Given the description of an element on the screen output the (x, y) to click on. 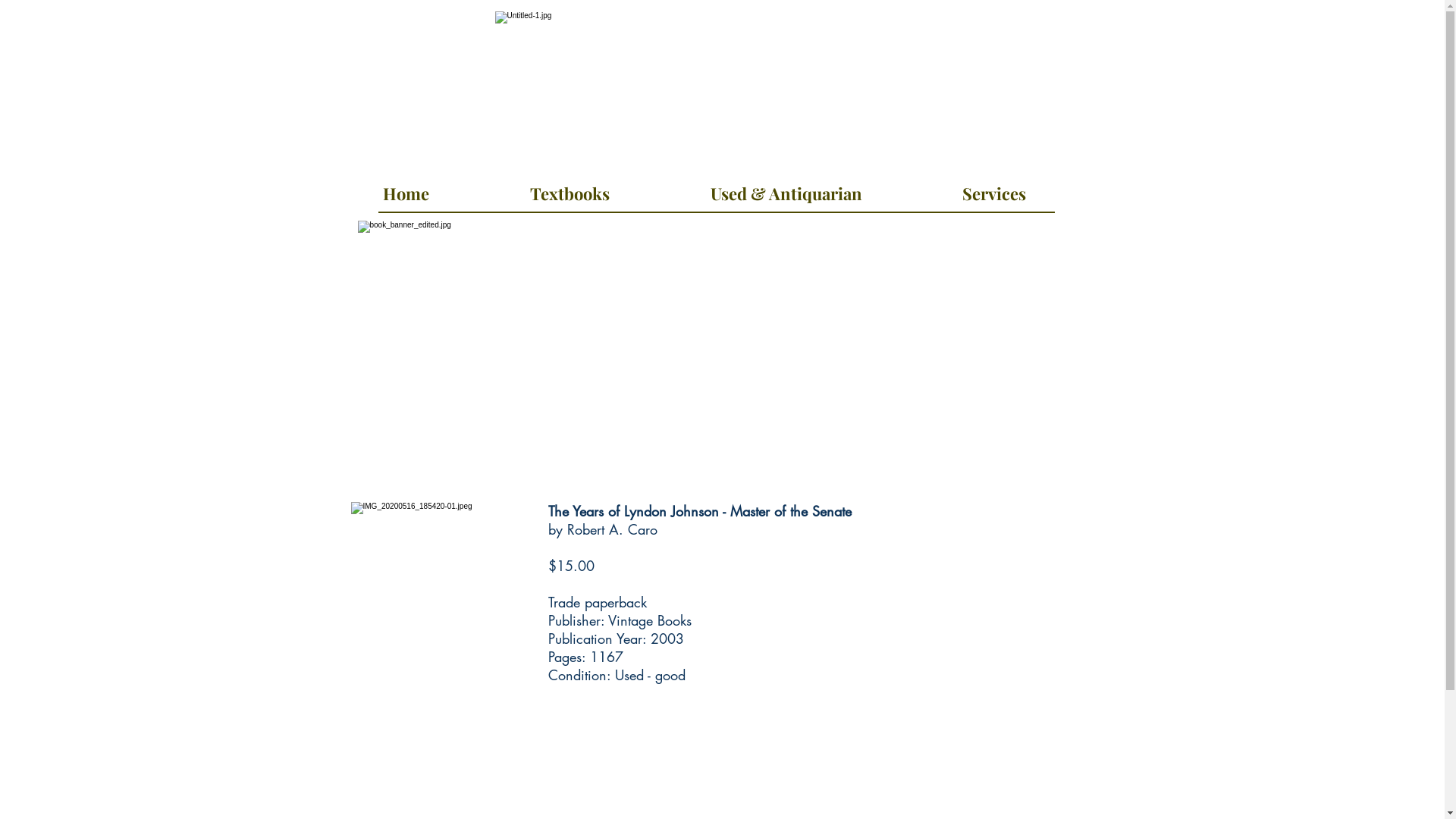
Home Element type: text (405, 186)
Services Element type: text (993, 186)
Textbooks Element type: text (569, 186)
Used & Antiquarian Element type: text (785, 186)
